Given the description of an element on the screen output the (x, y) to click on. 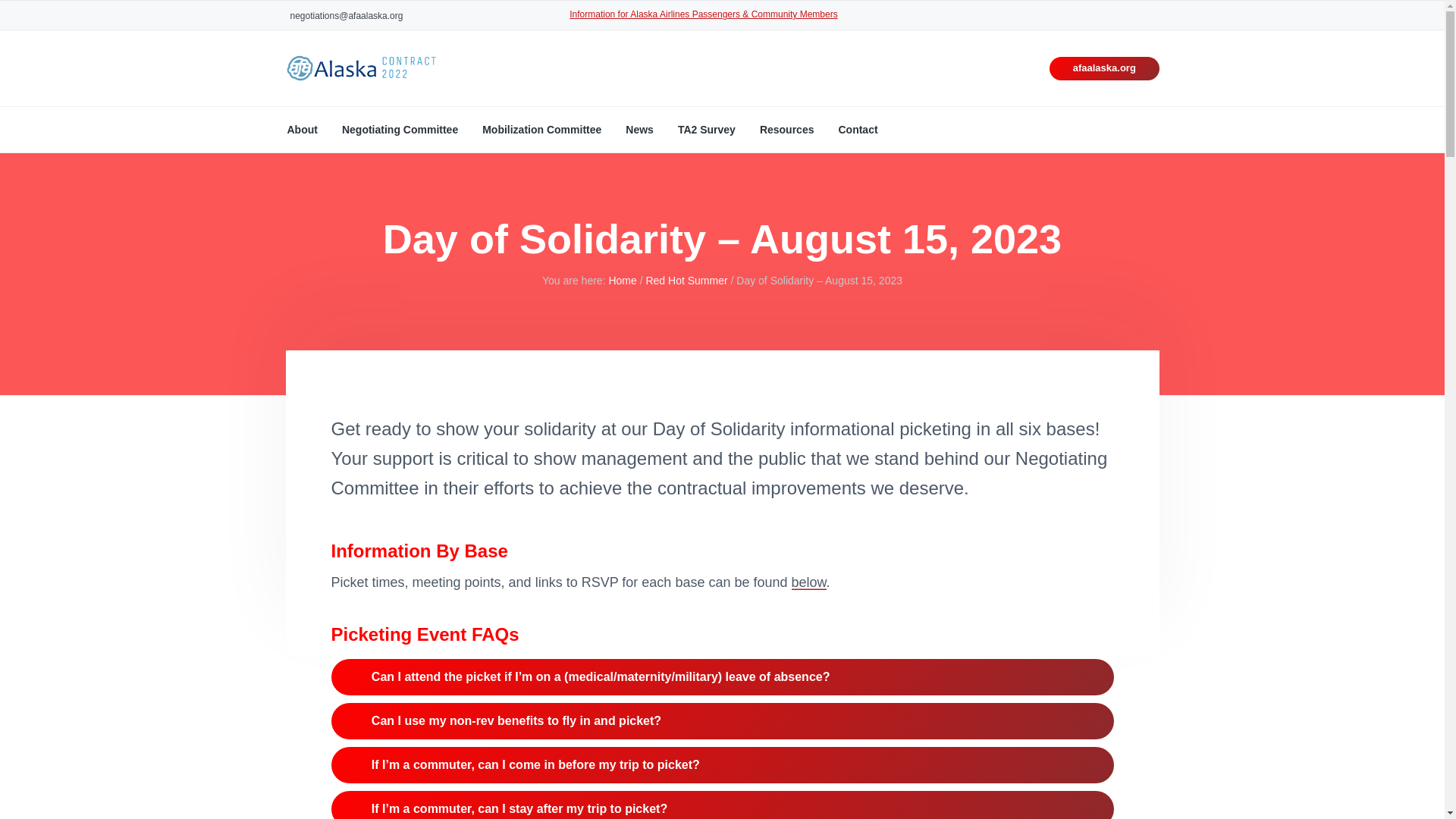
Home (622, 280)
below (809, 581)
TA2 Survey (706, 129)
News (639, 129)
Search (60, 18)
Red Hot Summer (685, 280)
Contact (857, 129)
Mobilization Committee (541, 129)
Resources (786, 129)
